Given the description of an element on the screen output the (x, y) to click on. 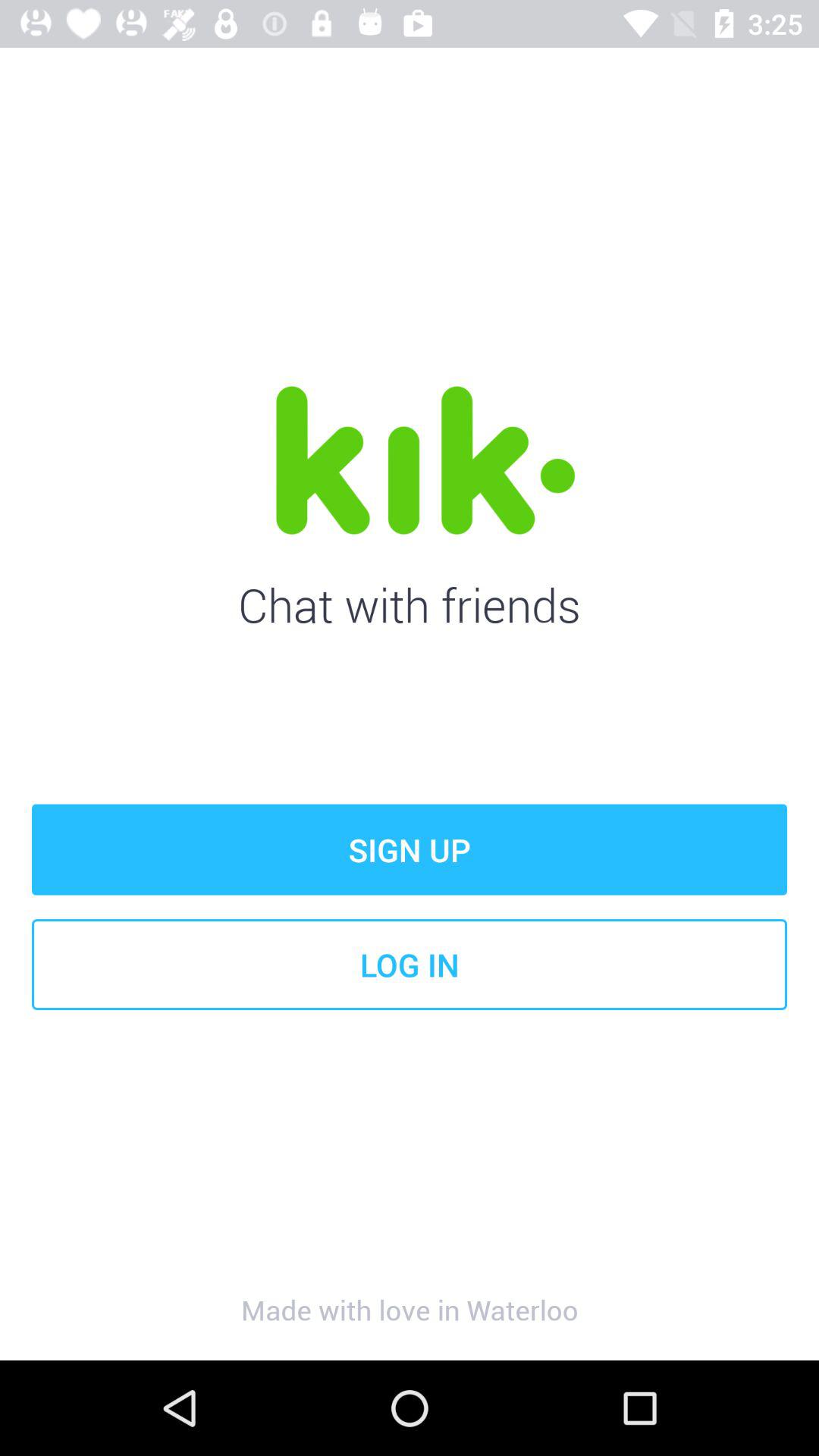
tap the icon above the log in icon (409, 849)
